Given the description of an element on the screen output the (x, y) to click on. 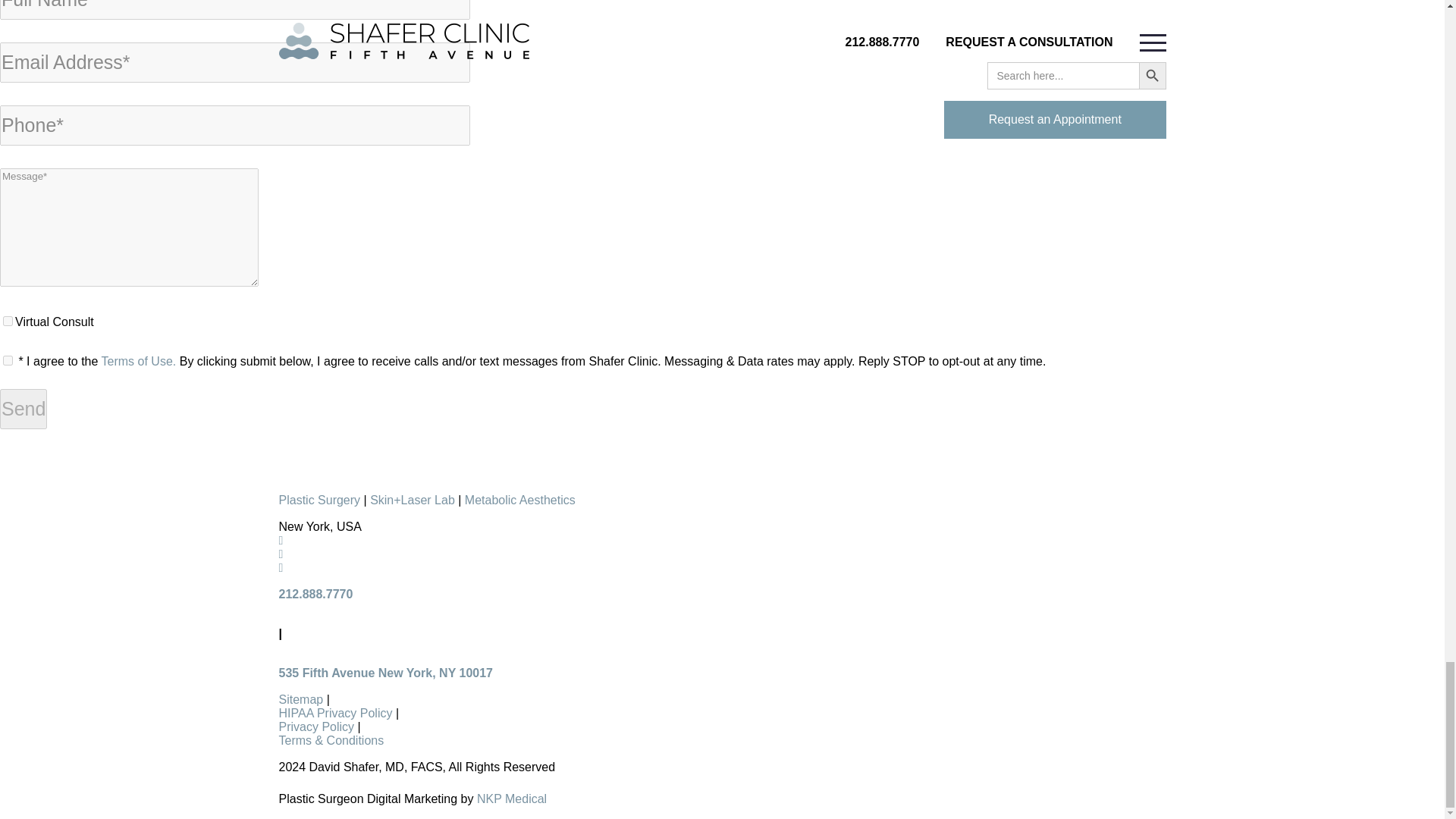
Send (23, 409)
Virtual Consult (7, 320)
1 (7, 360)
